Given the description of an element on the screen output the (x, y) to click on. 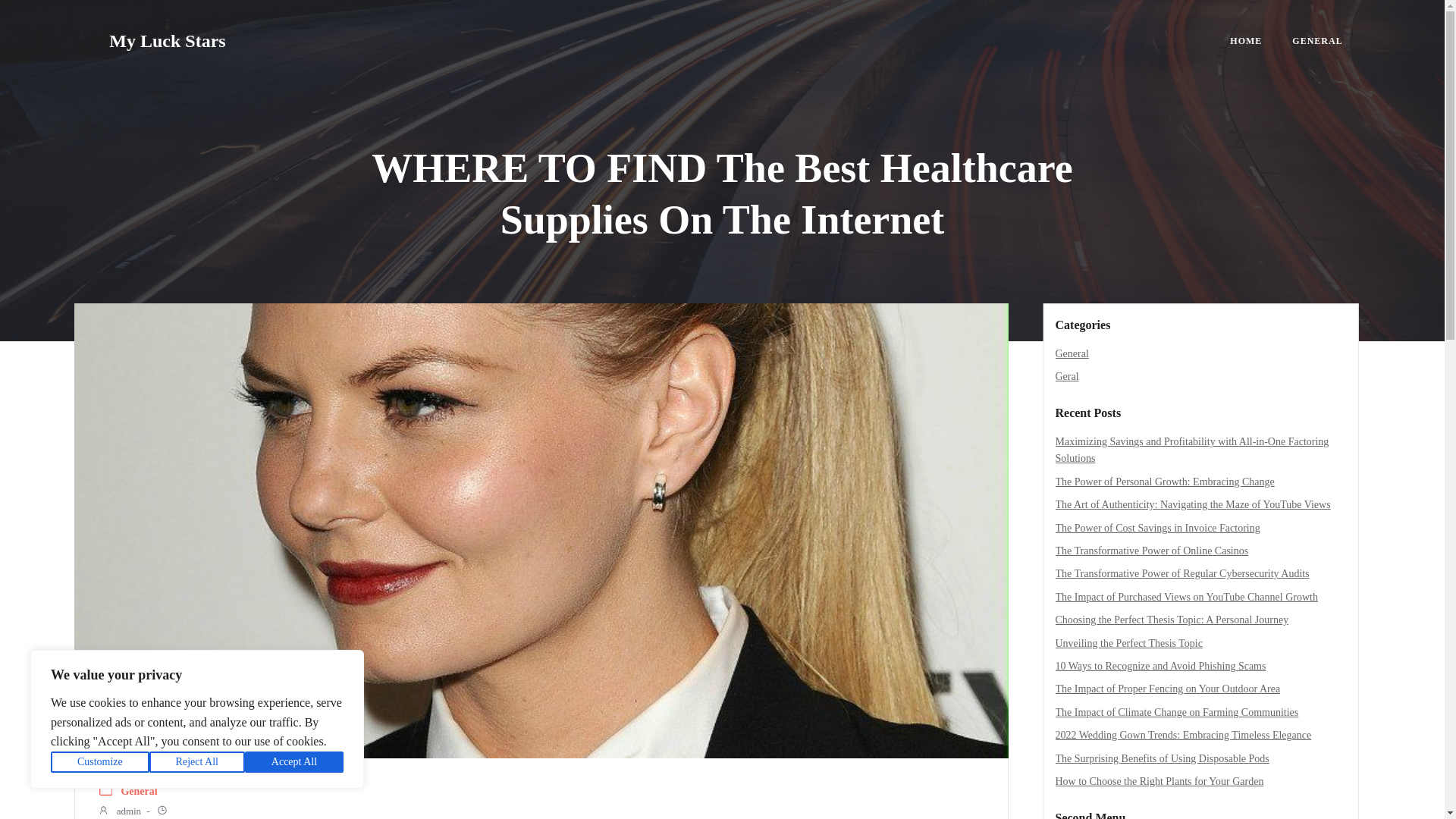
The Positive Impact of Coffee on Local Communities (1169, 487)
HOME (1246, 40)
The Joy of Bounce Houses: Elevating Your Party Experience (1184, 464)
General (138, 791)
Customize (99, 762)
Reject All (196, 762)
Unleashing Potential: My Journey as an Amazon Investor (1177, 441)
General (1072, 353)
My Luck Stars (167, 40)
Geral (1066, 376)
Accept All (293, 762)
admin (119, 811)
GENERAL (1317, 40)
